Given the description of an element on the screen output the (x, y) to click on. 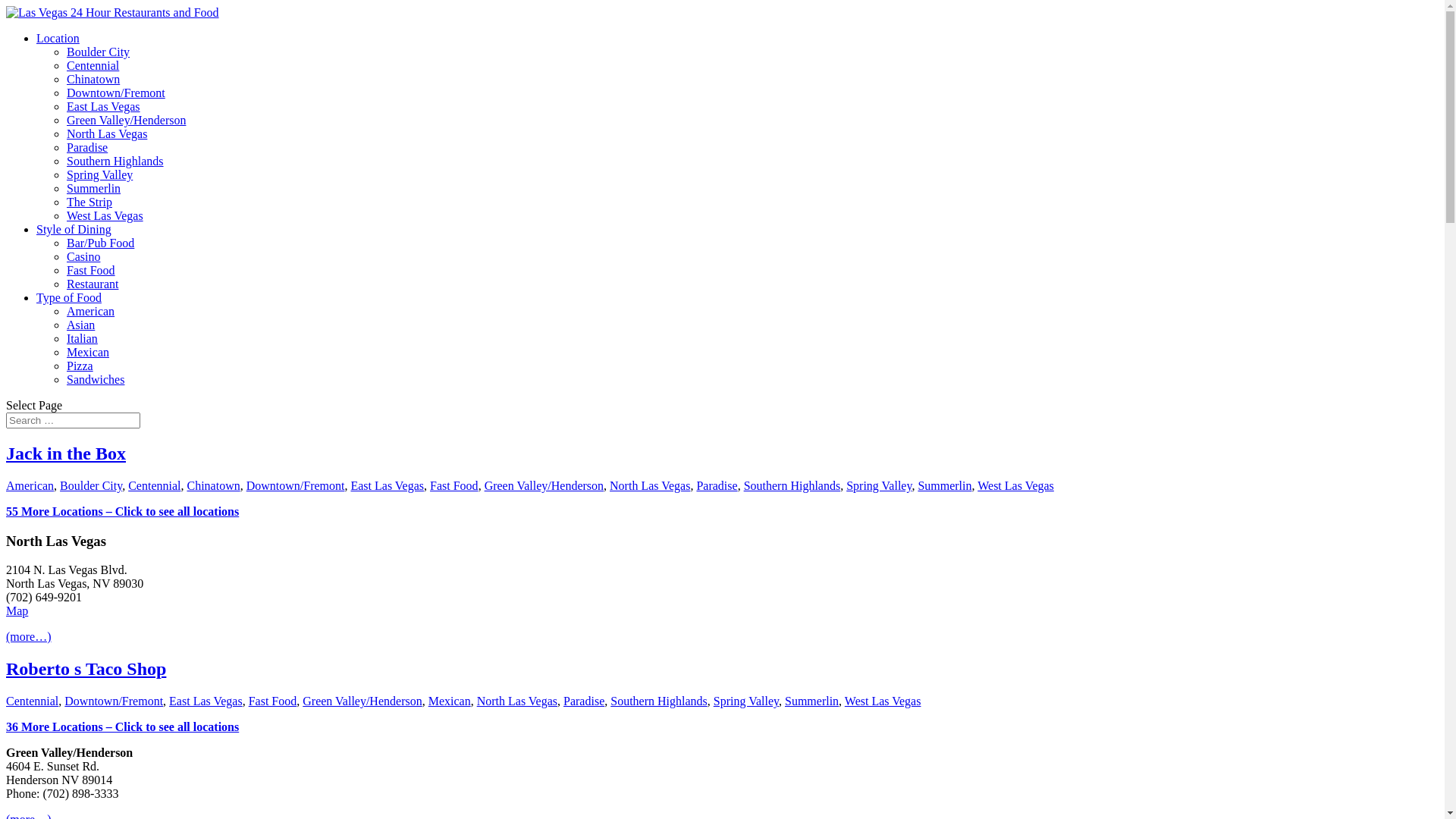
Southern Highlands Element type: text (658, 700)
Type of Food Element type: text (68, 297)
Fast Food Element type: text (90, 269)
Downtown/Fremont Element type: text (295, 485)
Downtown/Fremont Element type: text (115, 92)
Spring Valley Element type: text (745, 700)
North Las Vegas Element type: text (649, 485)
East Las Vegas Element type: text (205, 700)
The Strip Element type: text (89, 201)
Asian Element type: text (80, 324)
Chinatown Element type: text (212, 485)
Paradise Element type: text (86, 147)
Spring Valley Element type: text (878, 485)
West Las Vegas Element type: text (1015, 485)
Search for: Element type: hover (73, 420)
Location Element type: text (57, 37)
Roberto s Taco Shop Element type: text (86, 668)
Green Valley/Henderson Element type: text (543, 485)
Fast Food Element type: text (453, 485)
American Element type: text (90, 310)
Mexican Element type: text (87, 351)
Italian Element type: text (81, 338)
Paradise Element type: text (716, 485)
Southern Highlands Element type: text (114, 160)
East Las Vegas Element type: text (386, 485)
Pizza Element type: text (79, 365)
Style of Dining Element type: text (73, 228)
West Las Vegas Element type: text (104, 215)
North Las Vegas Element type: text (516, 700)
Map Element type: text (17, 610)
Southern Highlands Element type: text (791, 485)
East Las Vegas Element type: text (103, 106)
Bar/Pub Food Element type: text (100, 242)
Summerlin Element type: text (93, 188)
North Las Vegas Element type: text (106, 133)
Jack in the Box Element type: text (65, 453)
Centennial Element type: text (92, 65)
Boulder City Element type: text (90, 485)
Chinatown Element type: text (92, 78)
Centennial Element type: text (154, 485)
Casino Element type: text (83, 256)
Restaurant Element type: text (92, 283)
Paradise Element type: text (583, 700)
Spring Valley Element type: text (99, 174)
Downtown/Fremont Element type: text (113, 700)
Green Valley/Henderson Element type: text (361, 700)
Boulder City Element type: text (97, 51)
American Element type: text (29, 485)
Fast Food Element type: text (272, 700)
Summerlin Element type: text (811, 700)
Sandwiches Element type: text (95, 379)
Summerlin Element type: text (944, 485)
Centennial Element type: text (32, 700)
Mexican Element type: text (449, 700)
Green Valley/Henderson Element type: text (125, 119)
West Las Vegas Element type: text (882, 700)
